Given the description of an element on the screen output the (x, y) to click on. 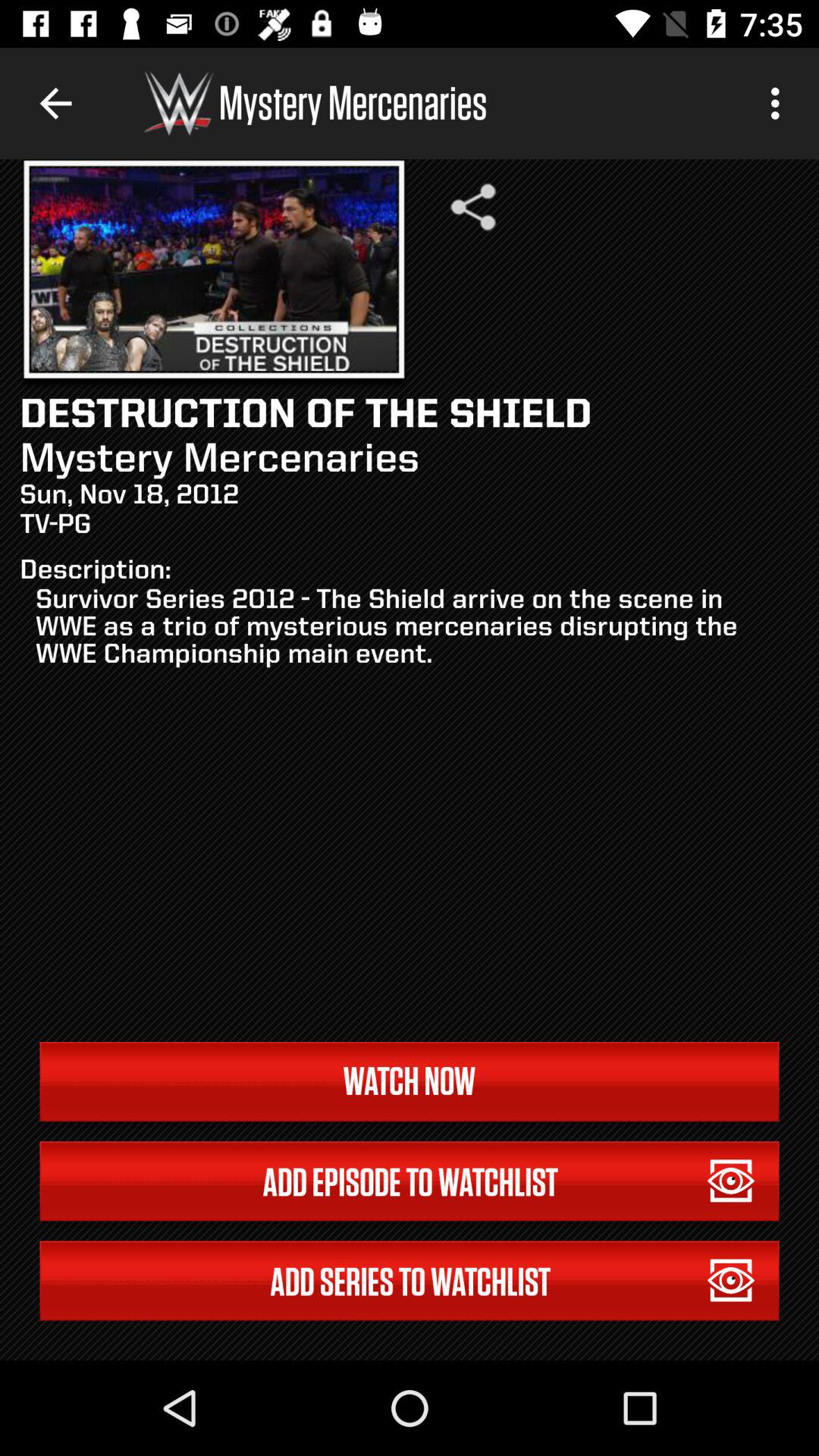
choose watch now icon (409, 1081)
